Given the description of an element on the screen output the (x, y) to click on. 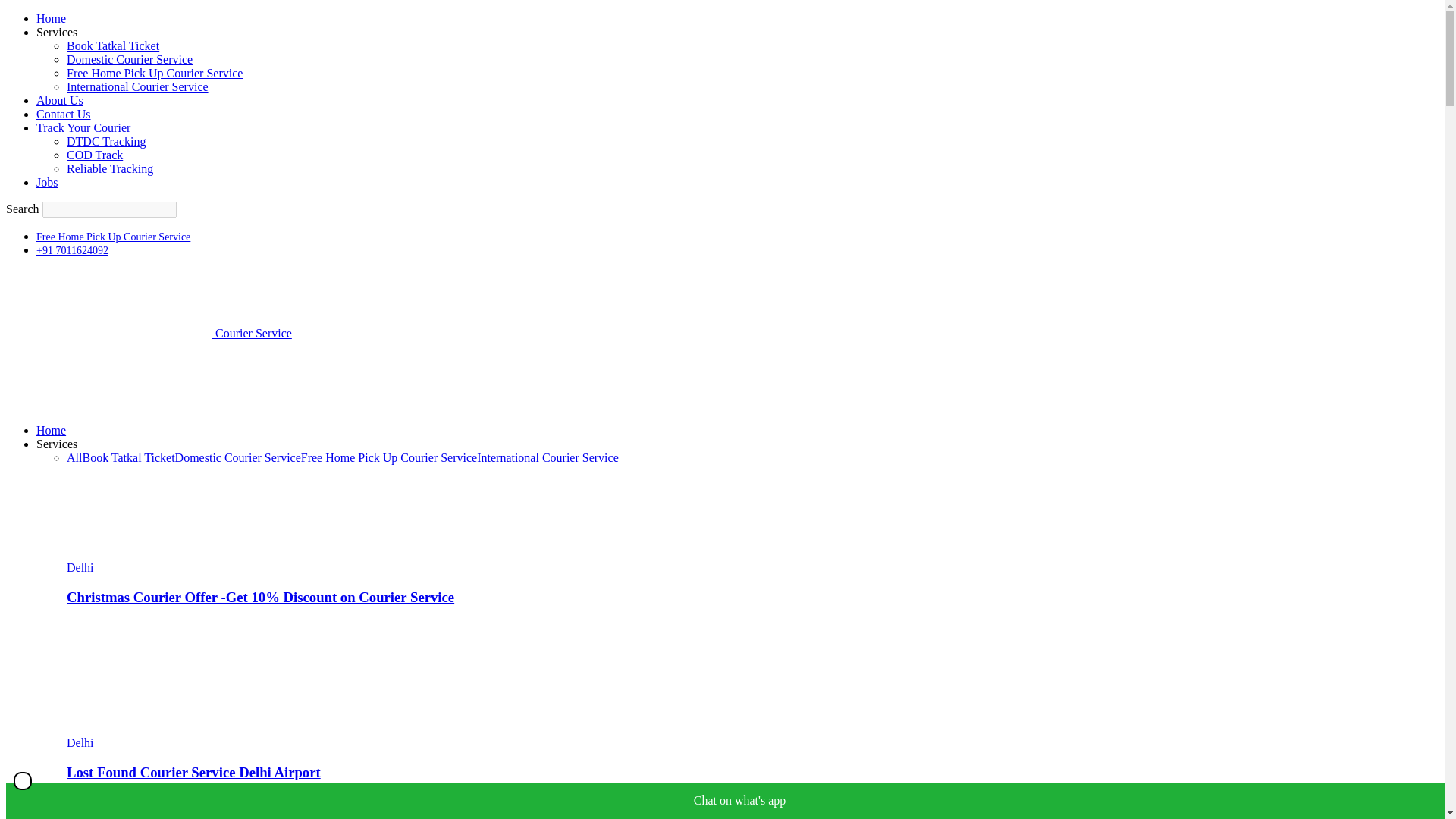
About Us (59, 100)
Reliable Tracking (109, 168)
Track Your Courier (83, 127)
Domestic Courier Service (129, 59)
All (73, 457)
Free Home Pick Up Courier Service (113, 236)
Home (50, 430)
Delhi (80, 742)
Home (50, 18)
Lost Found Courier Service Delhi Airport (193, 772)
Services (56, 443)
Domestic Courier Service (237, 457)
Free Home Pick Up Courier Service (389, 457)
Lost Found Courier Service Delhi Airport (148, 728)
International Courier Service (137, 86)
